Given the description of an element on the screen output the (x, y) to click on. 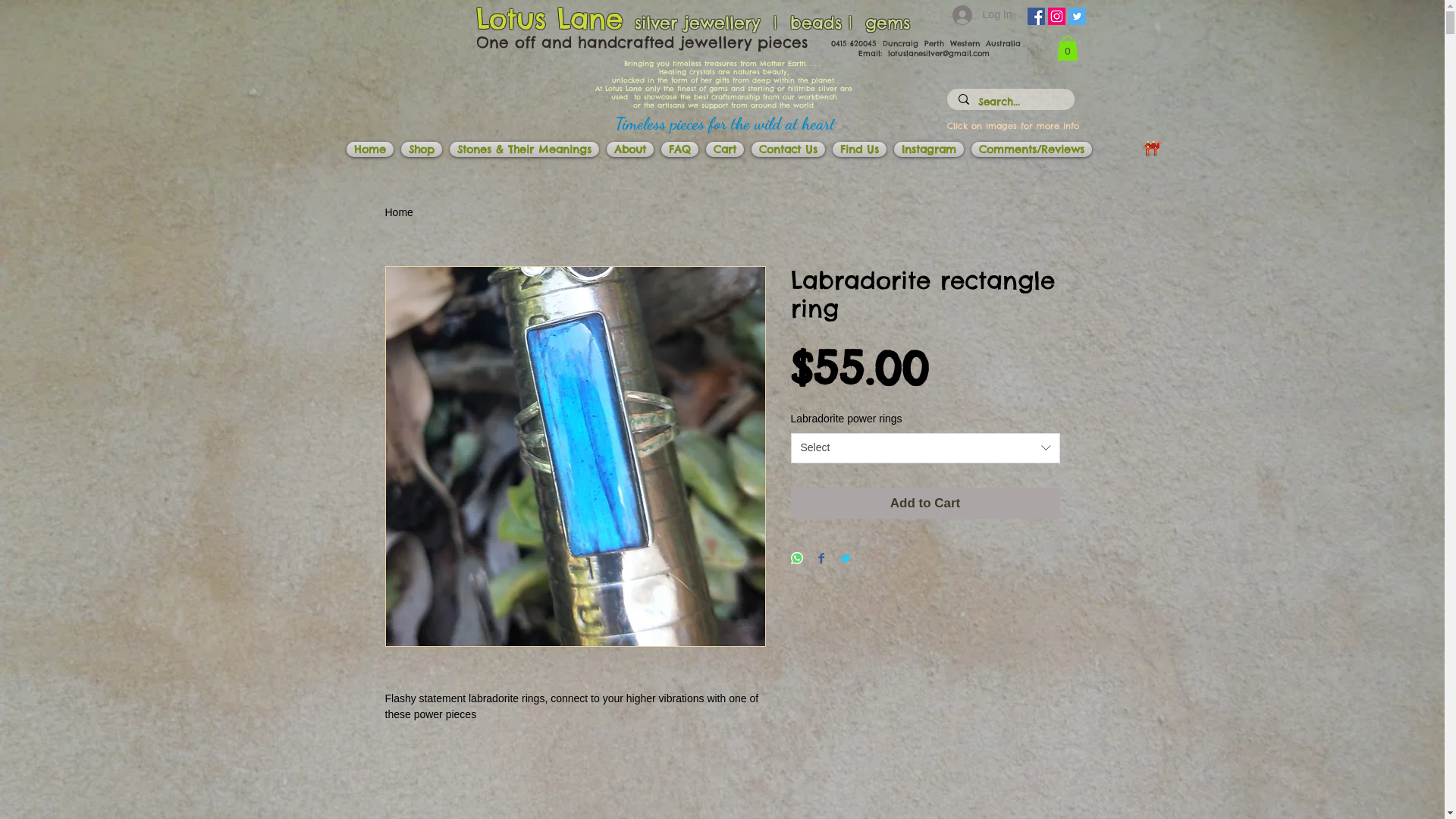
lotuslanesilver@gmail.com Element type: text (937, 53)
Home Element type: text (369, 148)
FAQ Element type: text (678, 148)
Comments/Reviews Element type: text (1031, 148)
Shop Element type: text (421, 148)
Instagram Element type: text (928, 148)
Log In Element type: text (981, 14)
Stones & Their Meanings Element type: text (523, 148)
Cart Element type: text (724, 148)
Home Element type: text (399, 212)
Select Element type: text (924, 448)
Contact Us Element type: text (787, 148)
About Element type: text (629, 148)
0 Element type: text (1067, 47)
Find Us Element type: text (858, 148)
Add to Cart Element type: text (924, 503)
